Given the description of an element on the screen output the (x, y) to click on. 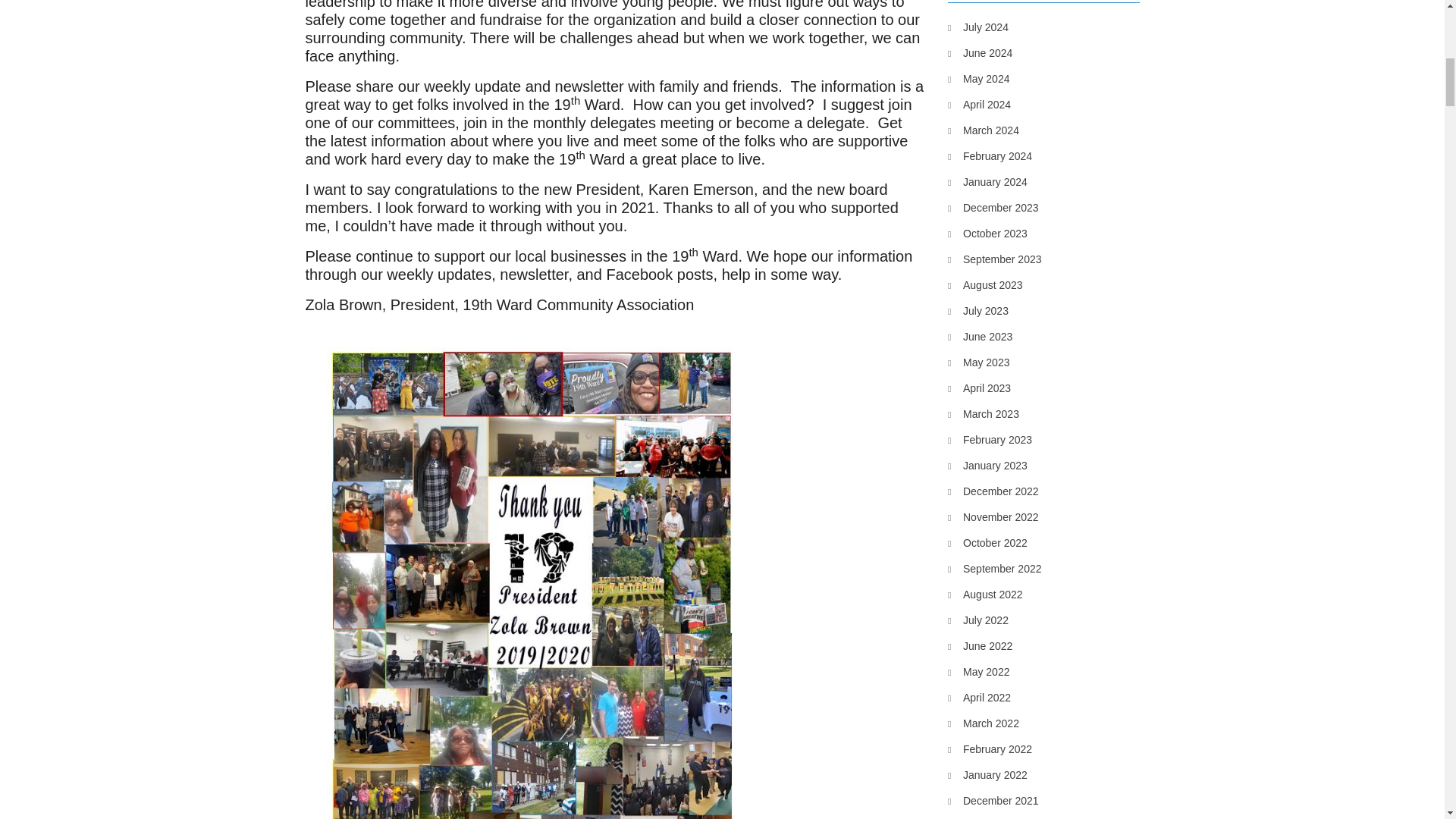
October 2023 (987, 233)
February 2024 (989, 156)
December 2023 (993, 208)
May 2024 (978, 78)
September 2023 (994, 259)
March 2024 (983, 130)
June 2024 (979, 53)
July 2024 (978, 27)
January 2024 (987, 181)
April 2024 (978, 104)
